Given the description of an element on the screen output the (x, y) to click on. 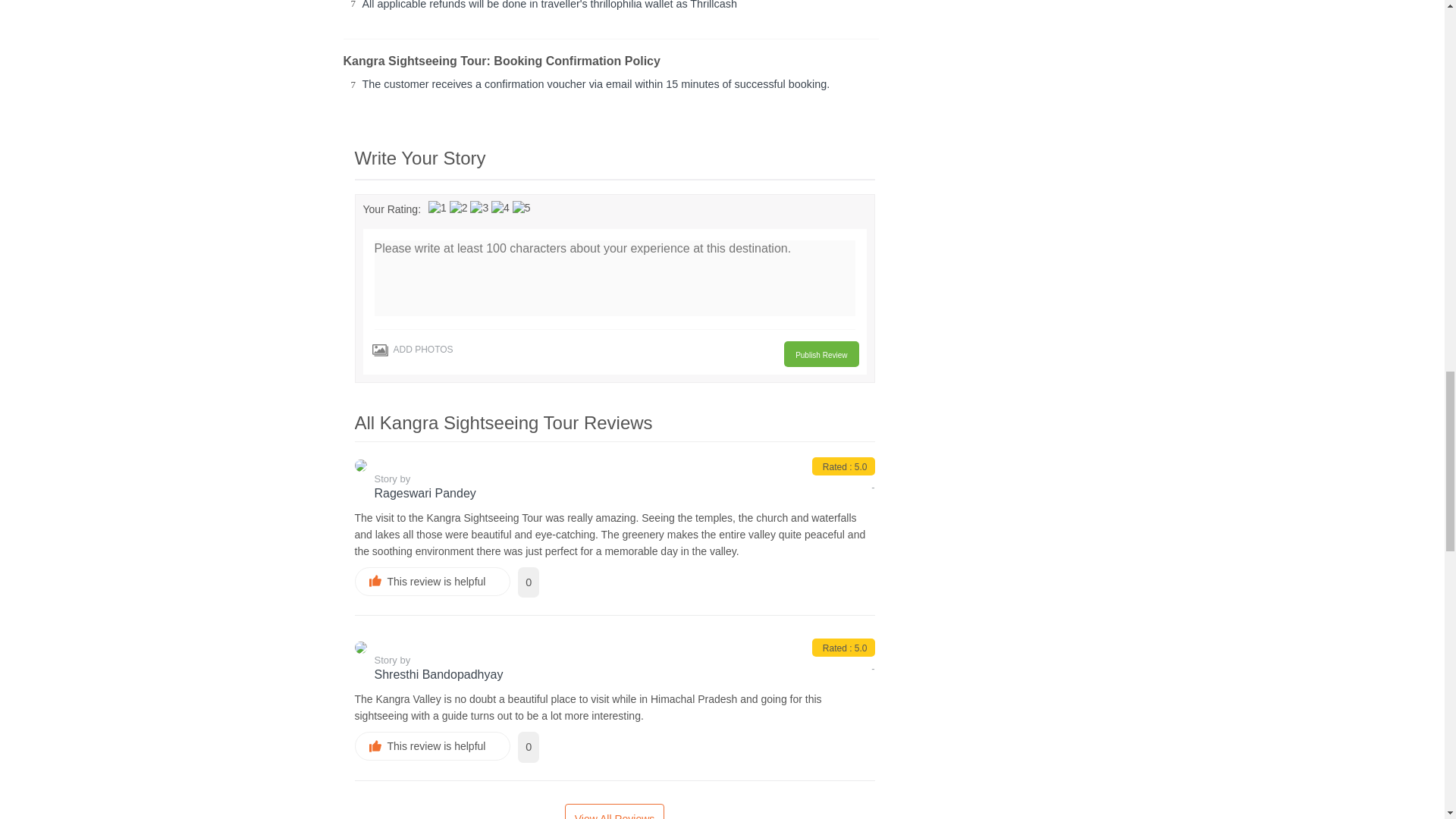
regular (478, 208)
gorgeous (521, 208)
bad (437, 208)
Publish Review (821, 353)
good (500, 208)
poor (458, 208)
